Given the description of an element on the screen output the (x, y) to click on. 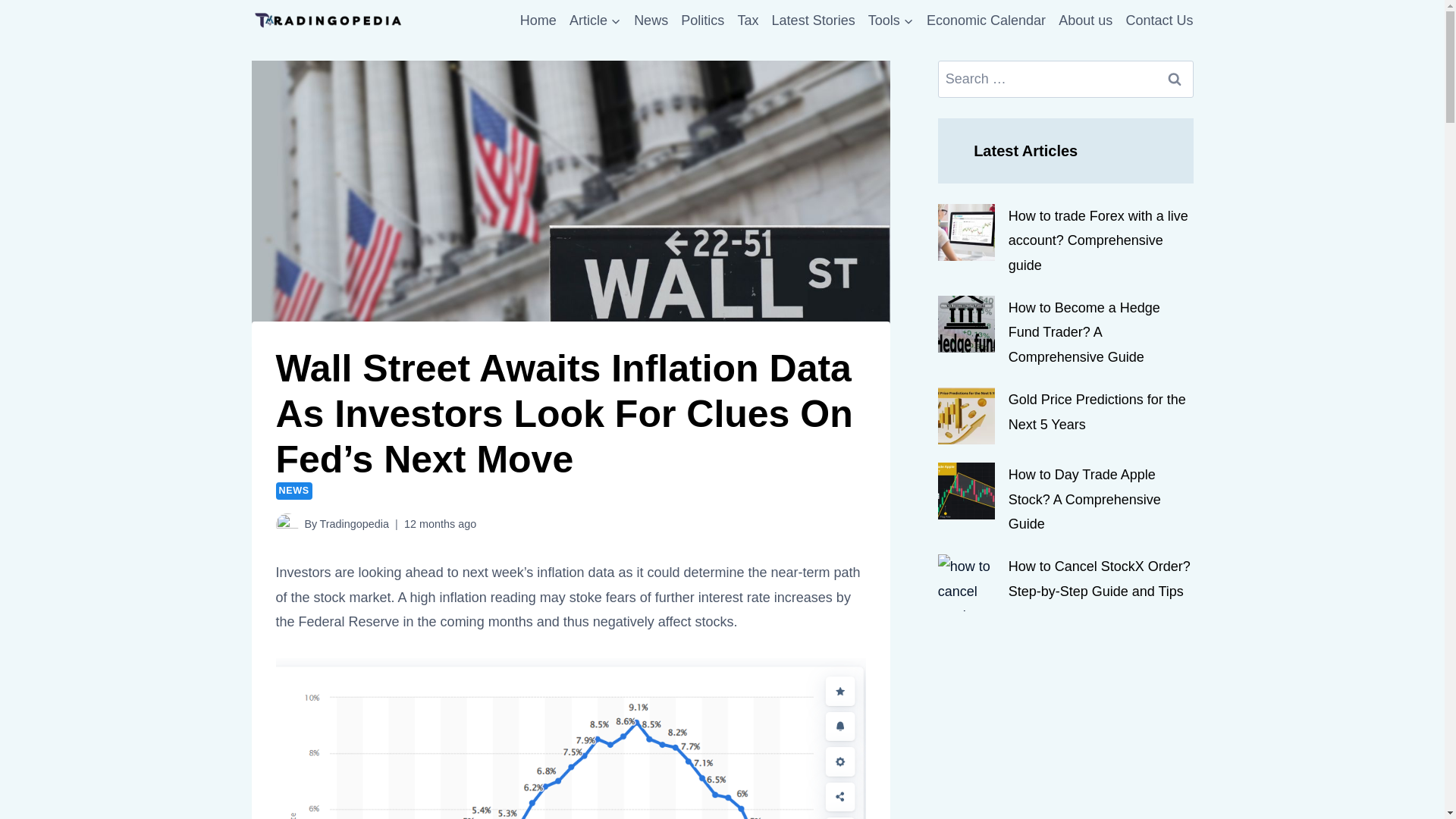
About us (1085, 20)
Tradingopedia (353, 523)
Tools (890, 20)
Latest Stories (813, 20)
Economic Calendar (985, 20)
Home (537, 20)
Politics (702, 20)
Search (1174, 78)
Article (595, 20)
Contact Us (1158, 20)
